Given the description of an element on the screen output the (x, y) to click on. 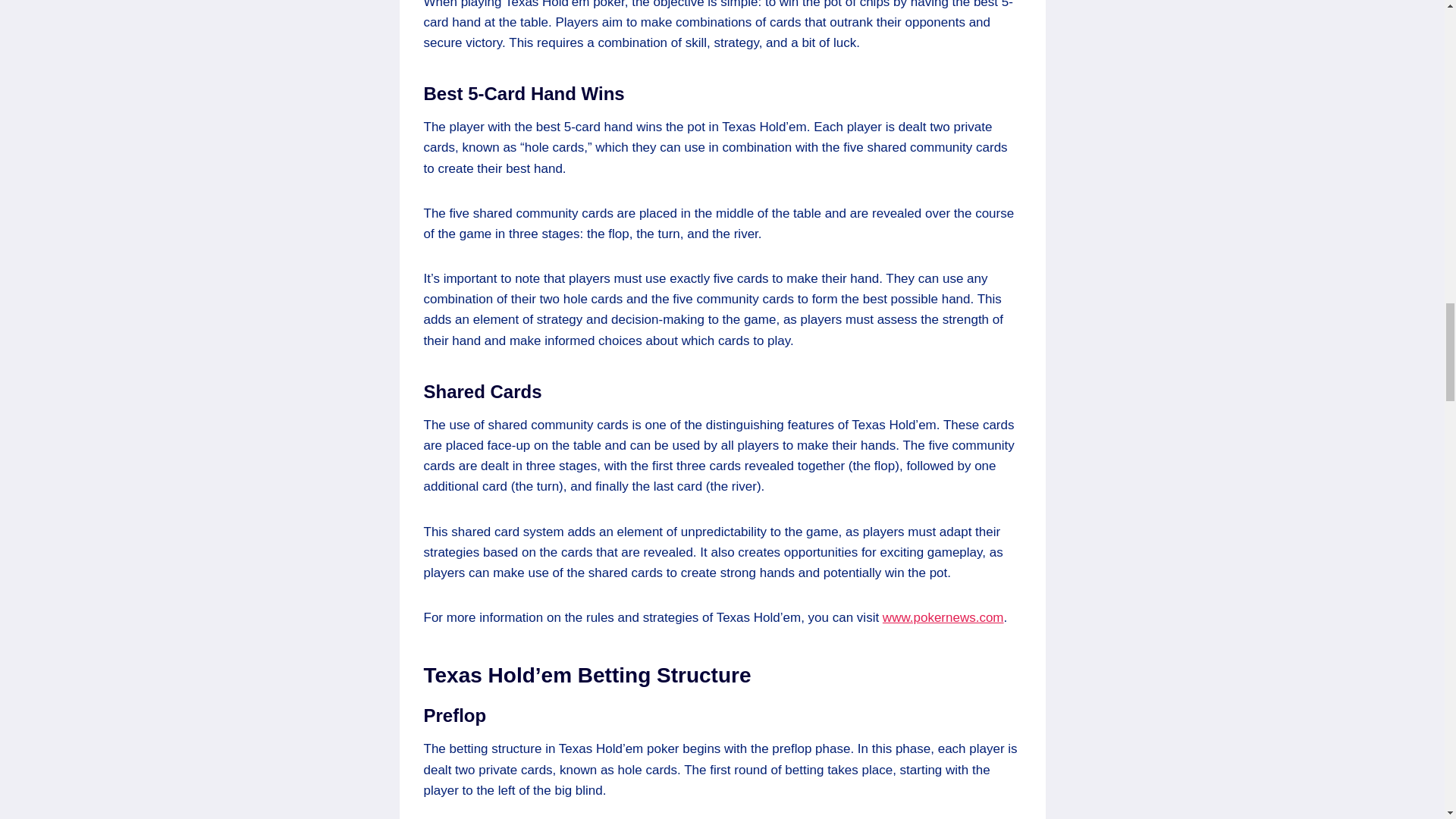
www.pokernews.com (943, 617)
